Given the description of an element on the screen output the (x, y) to click on. 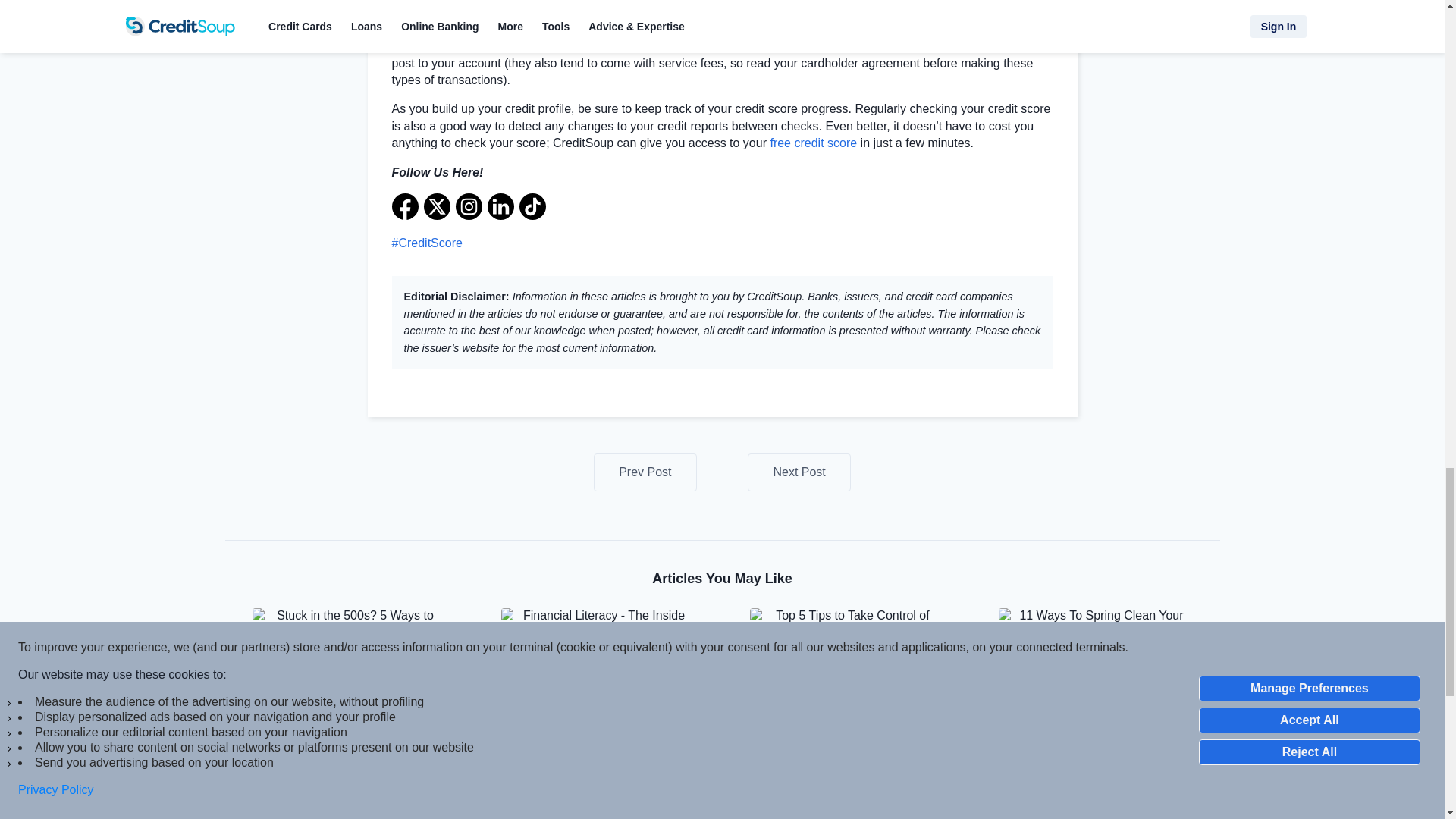
Why College Students Should Have a Credit Card (799, 472)
Follow Us on Instagram (467, 206)
Stuck in the 500s? 5 Ways to Boost Your Credit Score (348, 659)
free credit score (813, 142)
Follow Us on Facebook (404, 206)
11 Ways To Spring Clean Your Wallet (1094, 659)
Follow Us on TikTok (531, 206)
Financial Literacy - The Inside Scoop To Financial Freedom (597, 659)
Top 5 Tips to Take Control of Your Money (845, 659)
Follow Us on LinkedIn (499, 206)
